Given the description of an element on the screen output the (x, y) to click on. 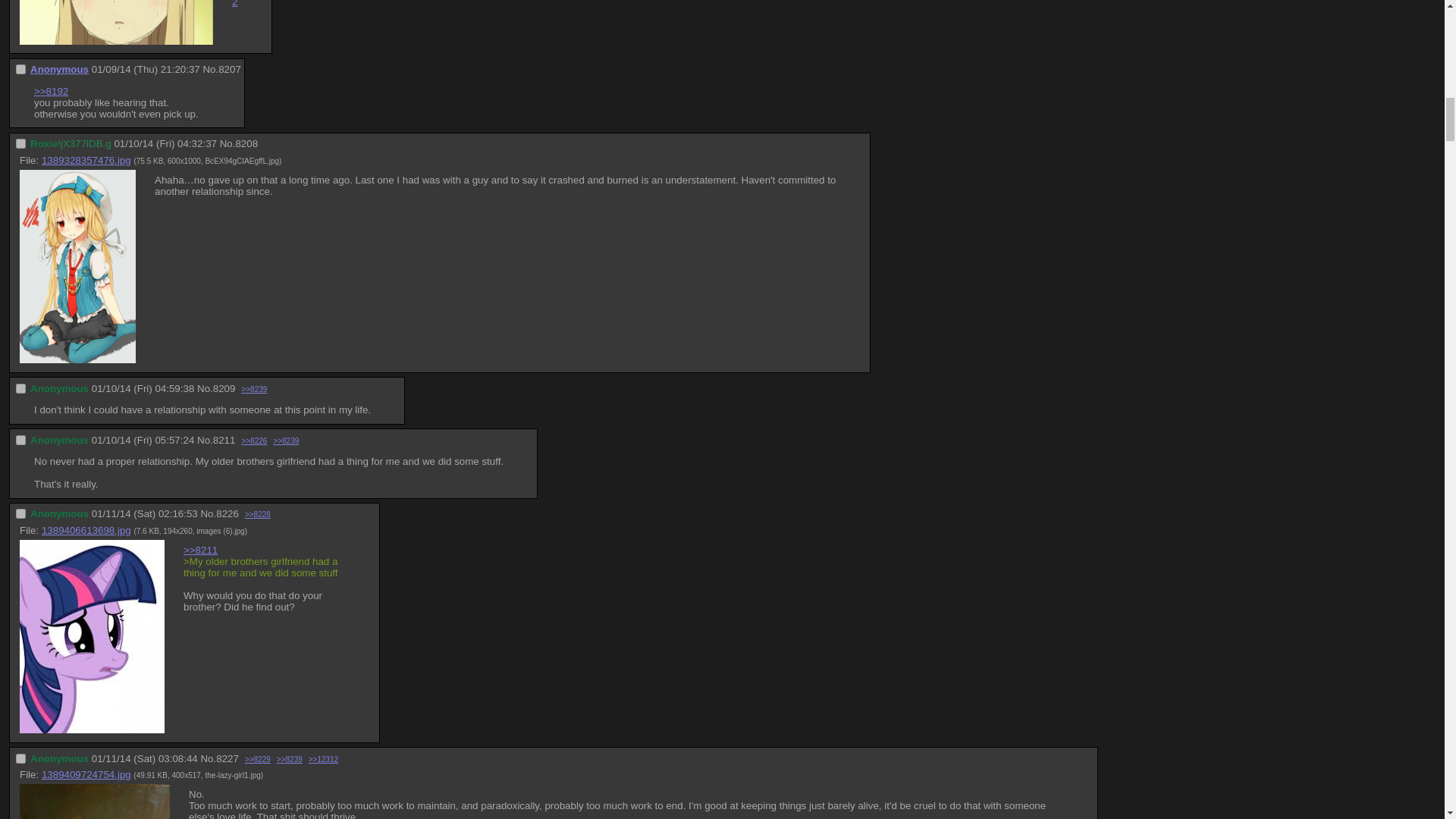
on (21, 69)
on (21, 388)
on (21, 439)
on (21, 143)
